Given the description of an element on the screen output the (x, y) to click on. 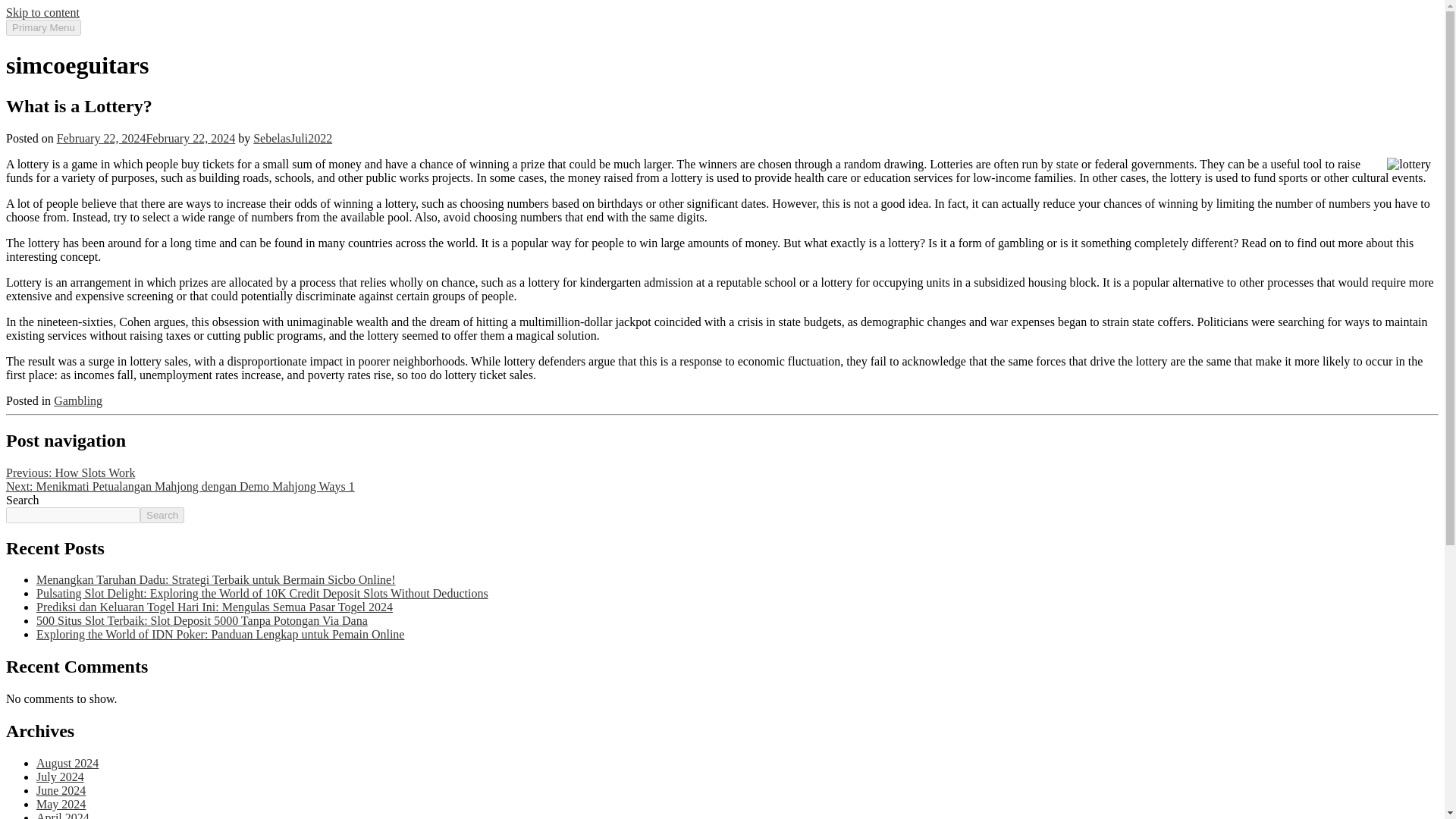
Skip to content (42, 11)
SebelasJuli2022 (292, 137)
Gambling (77, 400)
Previous: How Slots Work (70, 472)
February 22, 2024February 22, 2024 (145, 137)
